Given the description of an element on the screen output the (x, y) to click on. 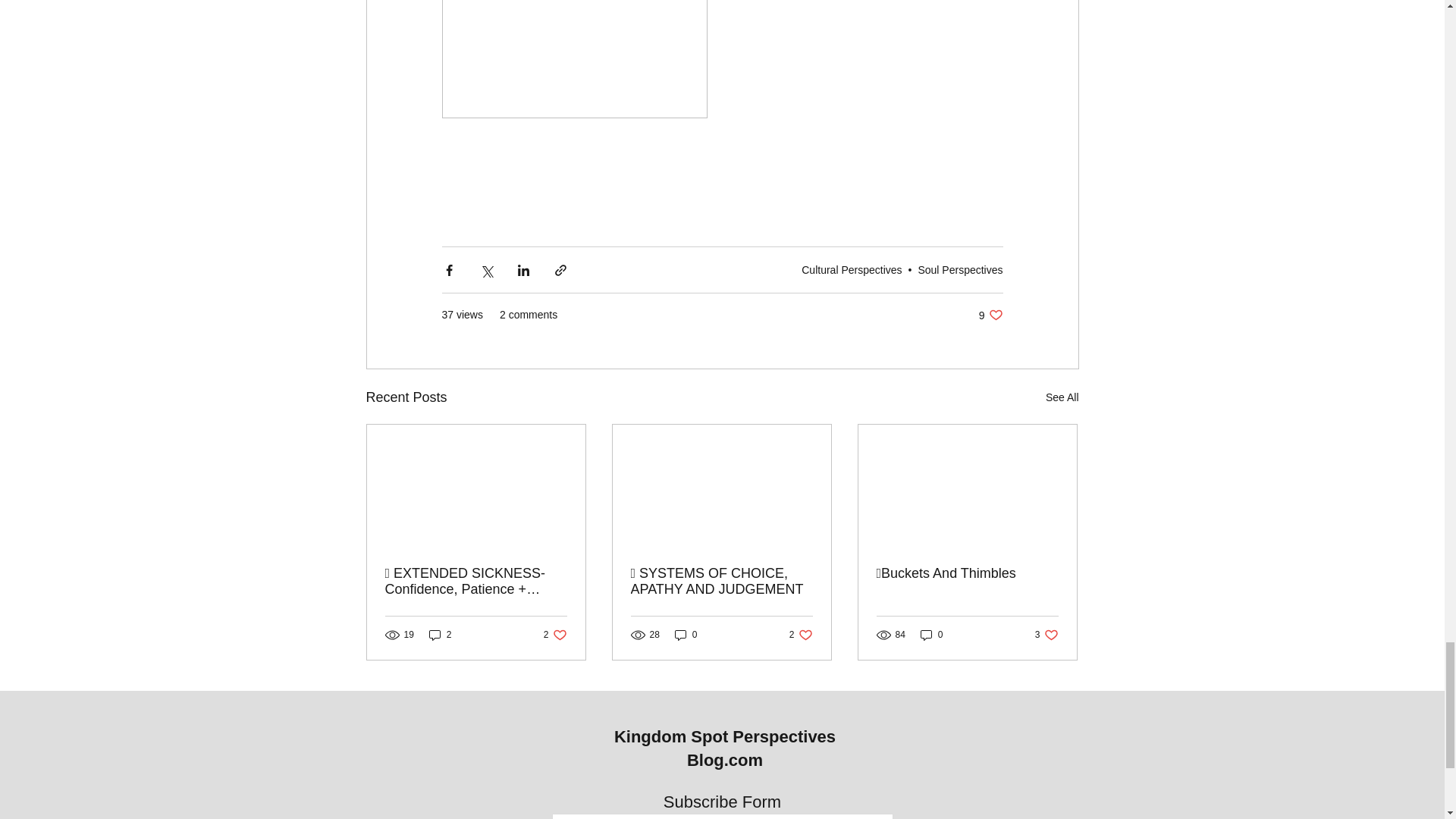
Cultural Perspectives (851, 269)
Soul Perspectives (960, 269)
See All (1061, 397)
2 (555, 635)
